Given the description of an element on the screen output the (x, y) to click on. 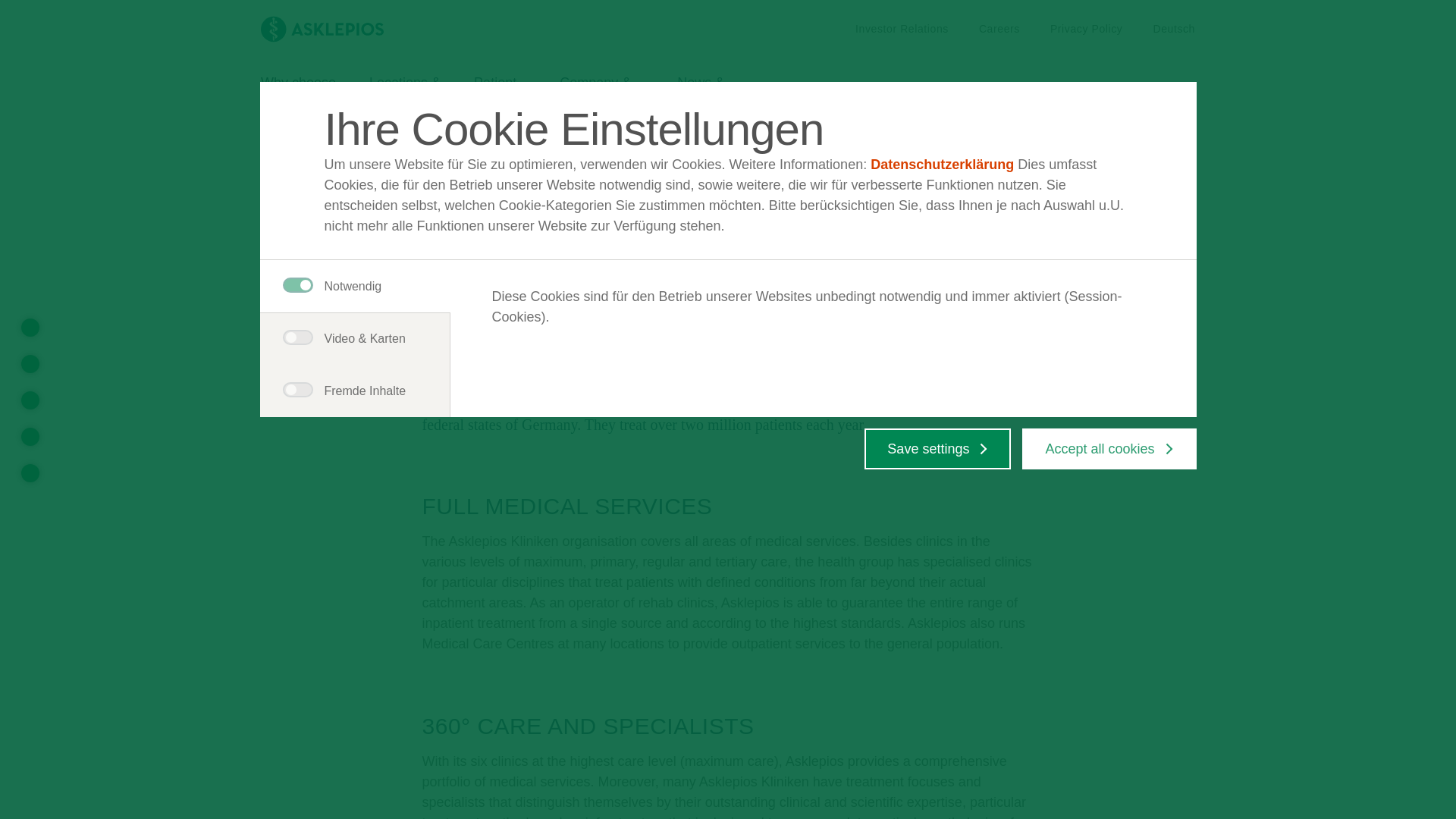
Investor Relations (499, 96)
Asklepios Kliniken International (902, 29)
Careers (341, 133)
Careers (999, 29)
Privacy Policy (999, 29)
Combined Competency (1085, 29)
back to homepage (30, 473)
Centers of Excellence (494, 28)
Deutsch (30, 436)
Privacy Policy (1174, 29)
Full Medical Services (1085, 29)
Deutsch (298, 96)
Experience and Equipment (30, 327)
